Given the description of an element on the screen output the (x, y) to click on. 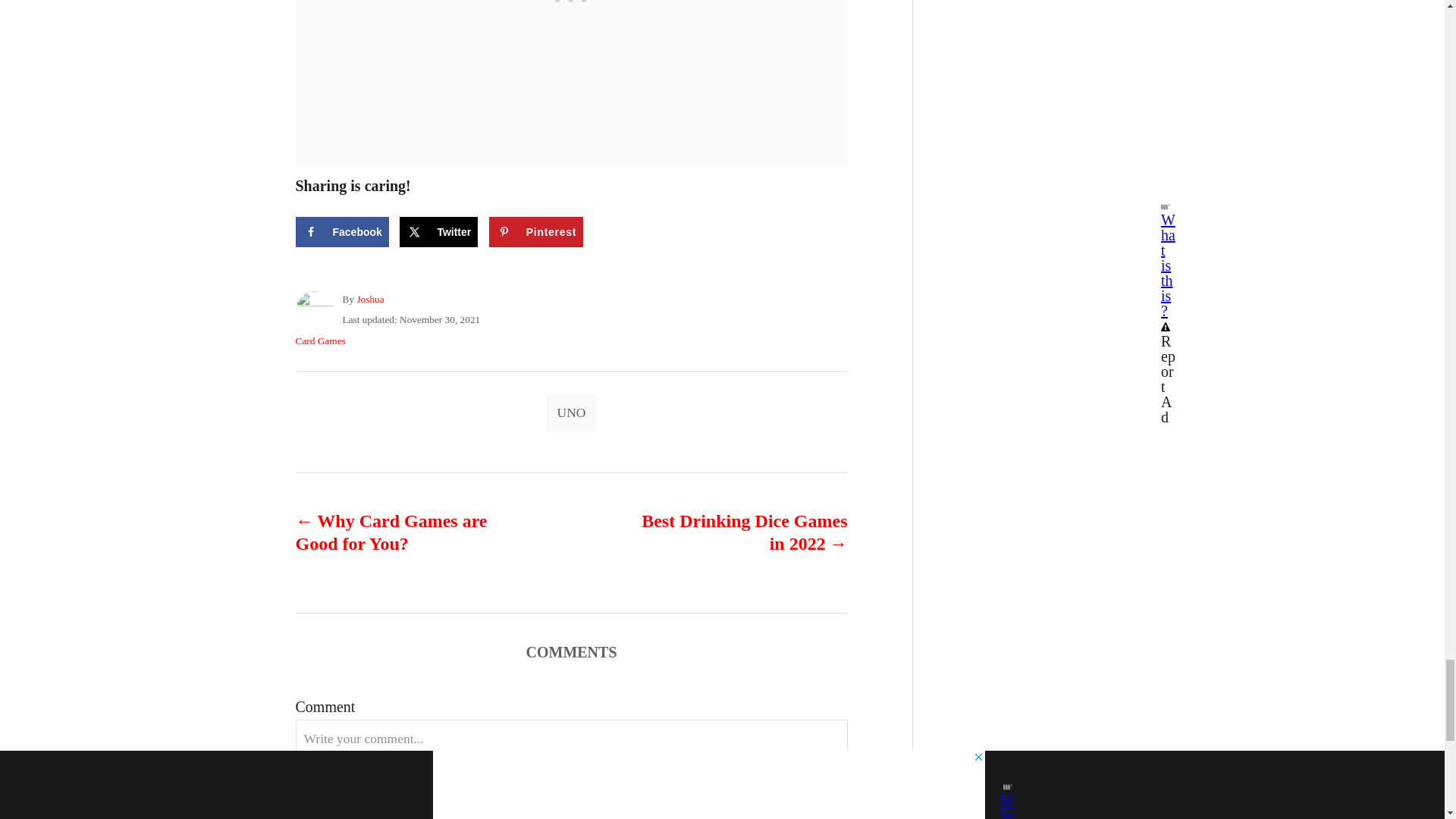
Share on Facebook (341, 232)
Pinterest (536, 232)
Best Drinking Dice Games in 2022 (736, 532)
Share on X (437, 232)
UNO (571, 411)
Twitter (437, 232)
Why Card Games are Good for You? (405, 532)
Card Games (320, 340)
Facebook (341, 232)
Joshua (370, 298)
